Given the description of an element on the screen output the (x, y) to click on. 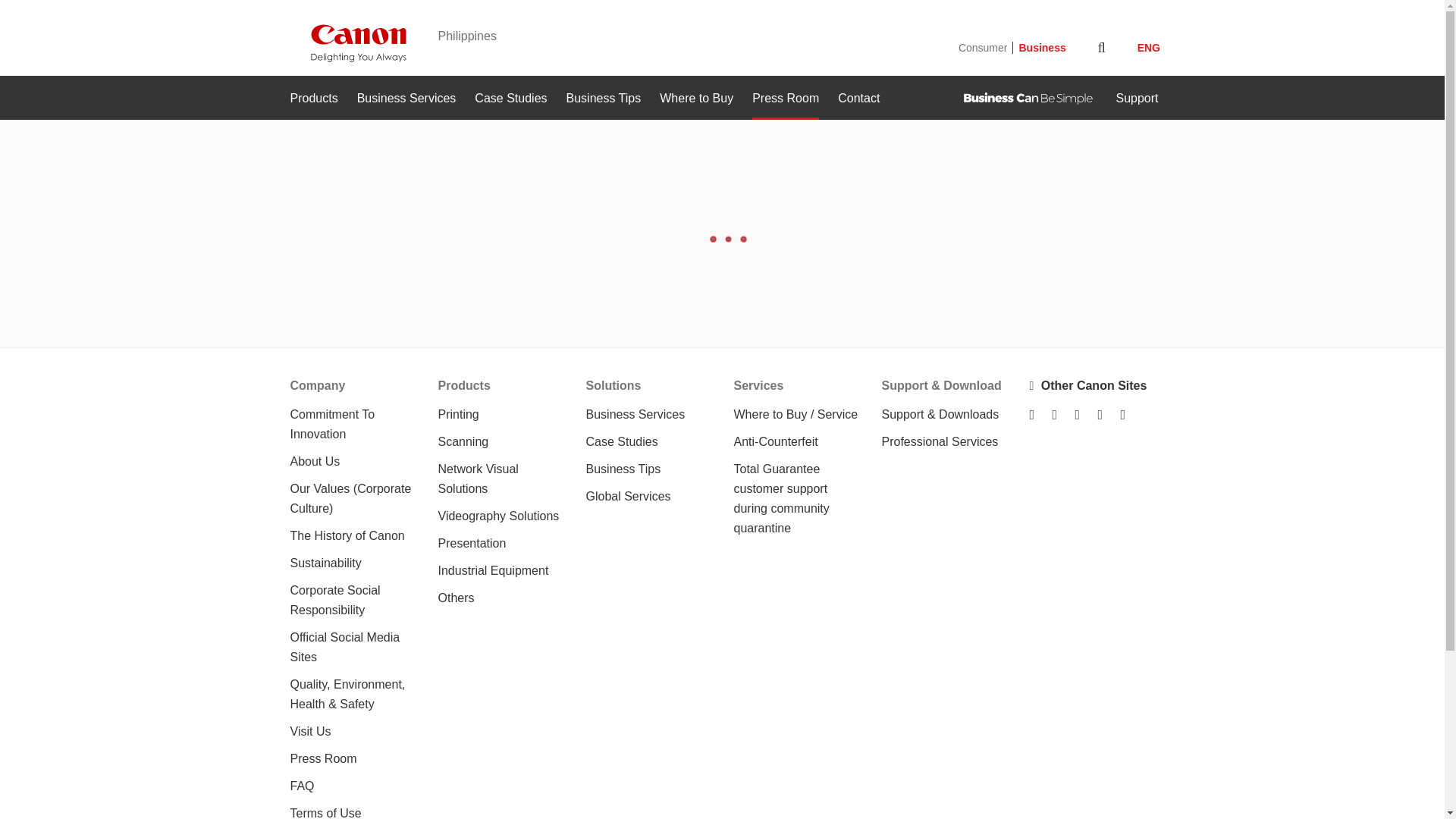
Press Room (322, 758)
Press Room (785, 98)
Where to Buy (696, 98)
Corporate Social Responsibility (334, 599)
Business Services (406, 98)
Contact (858, 98)
Official Social Media Sites (343, 646)
Support (1136, 98)
FAQ (301, 785)
Visit Us (309, 730)
